Given the description of an element on the screen output the (x, y) to click on. 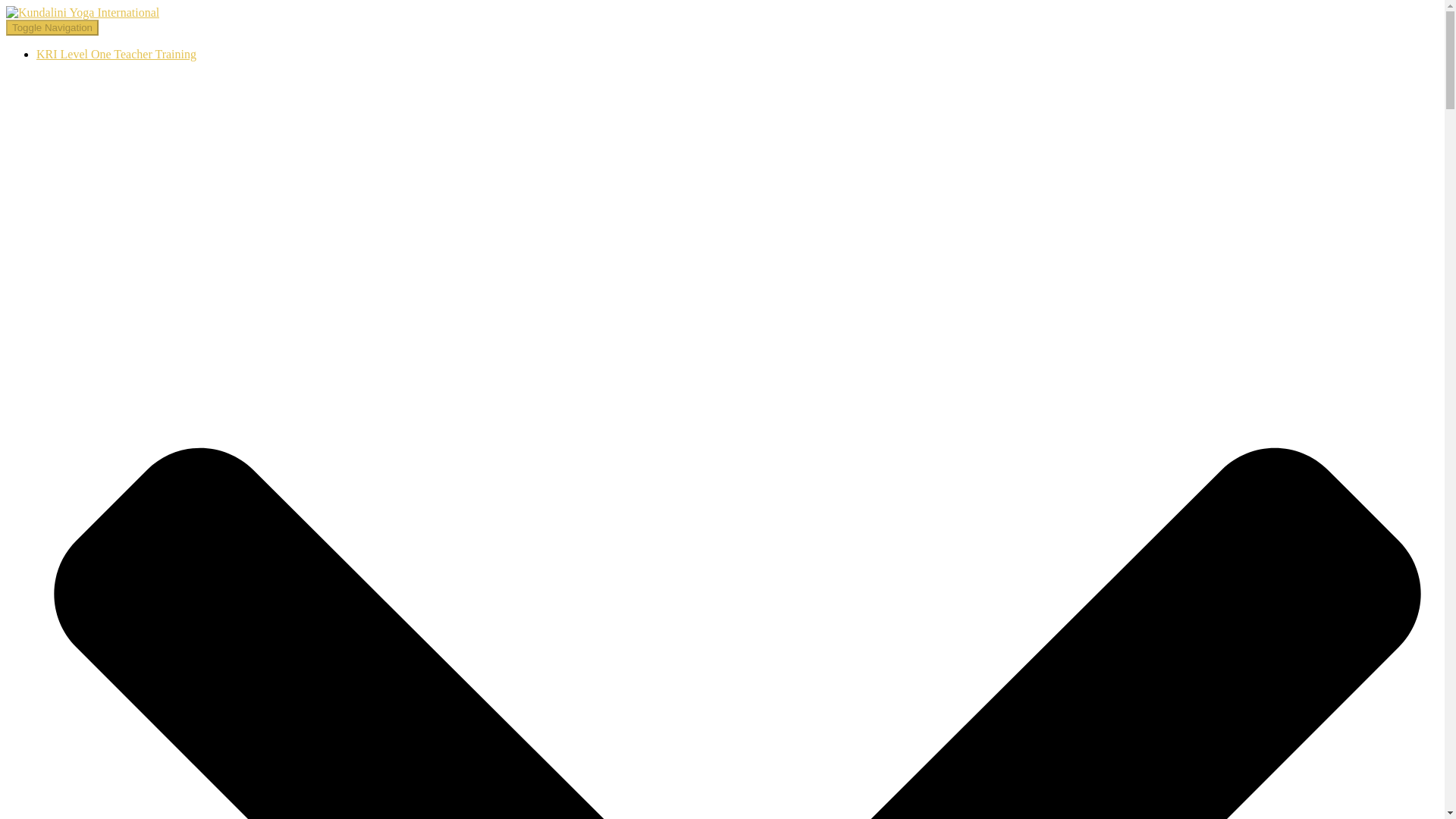
Kundalini Yoga International (81, 11)
Toggle Navigation (52, 27)
